Given the description of an element on the screen output the (x, y) to click on. 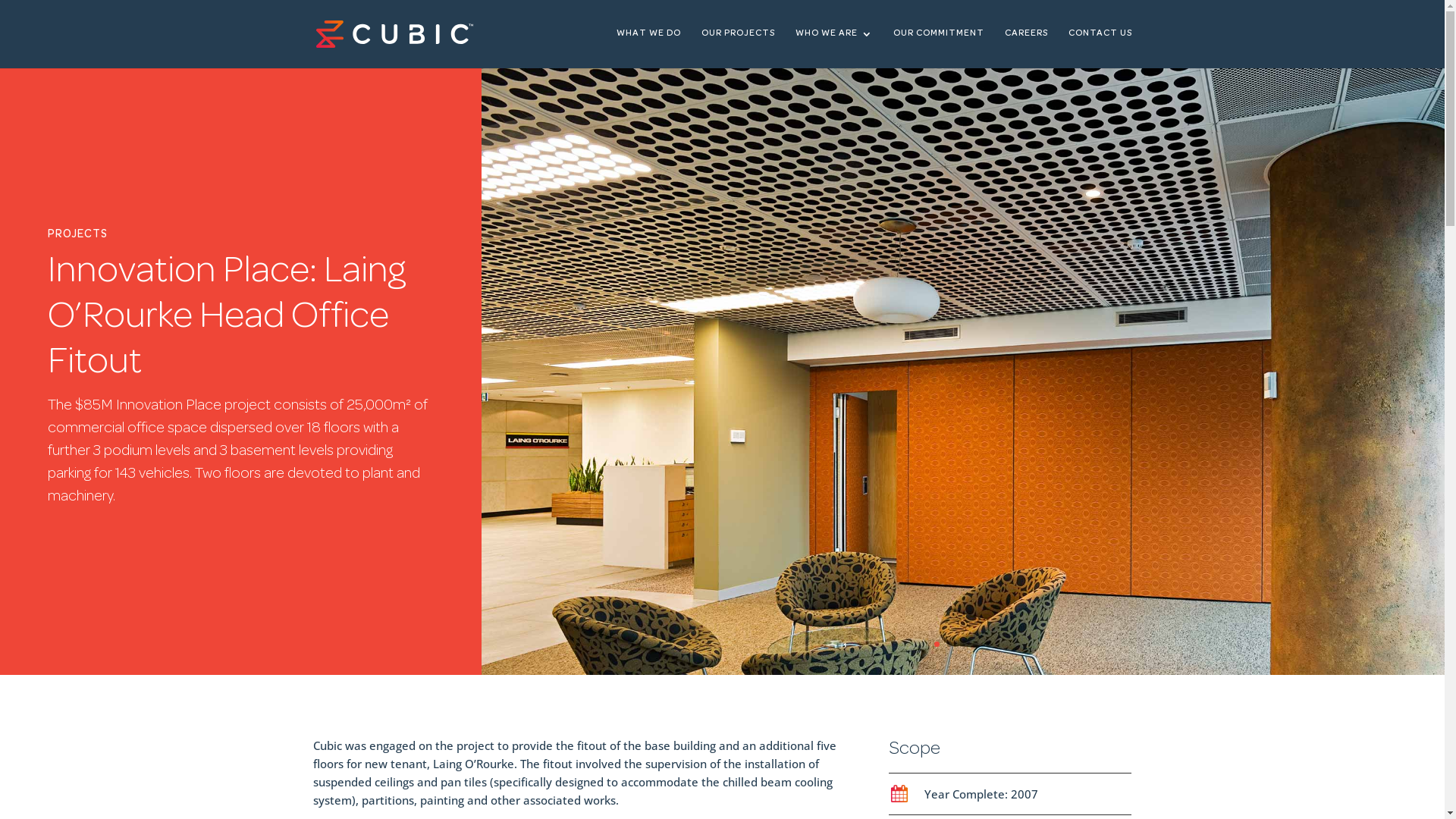
CAREERS Element type: text (1025, 48)
WHAT WE DO Element type: text (647, 48)
1 Element type: text (936, 643)
OUR COMMITMENT Element type: text (938, 48)
2 Element type: text (949, 643)
3 Element type: text (962, 643)
5 Element type: text (988, 643)
OUR PROJECTS Element type: text (737, 48)
CONTACT US Element type: text (1099, 48)
WHO WE ARE Element type: text (833, 48)
4 Element type: text (975, 643)
